Given the description of an element on the screen output the (x, y) to click on. 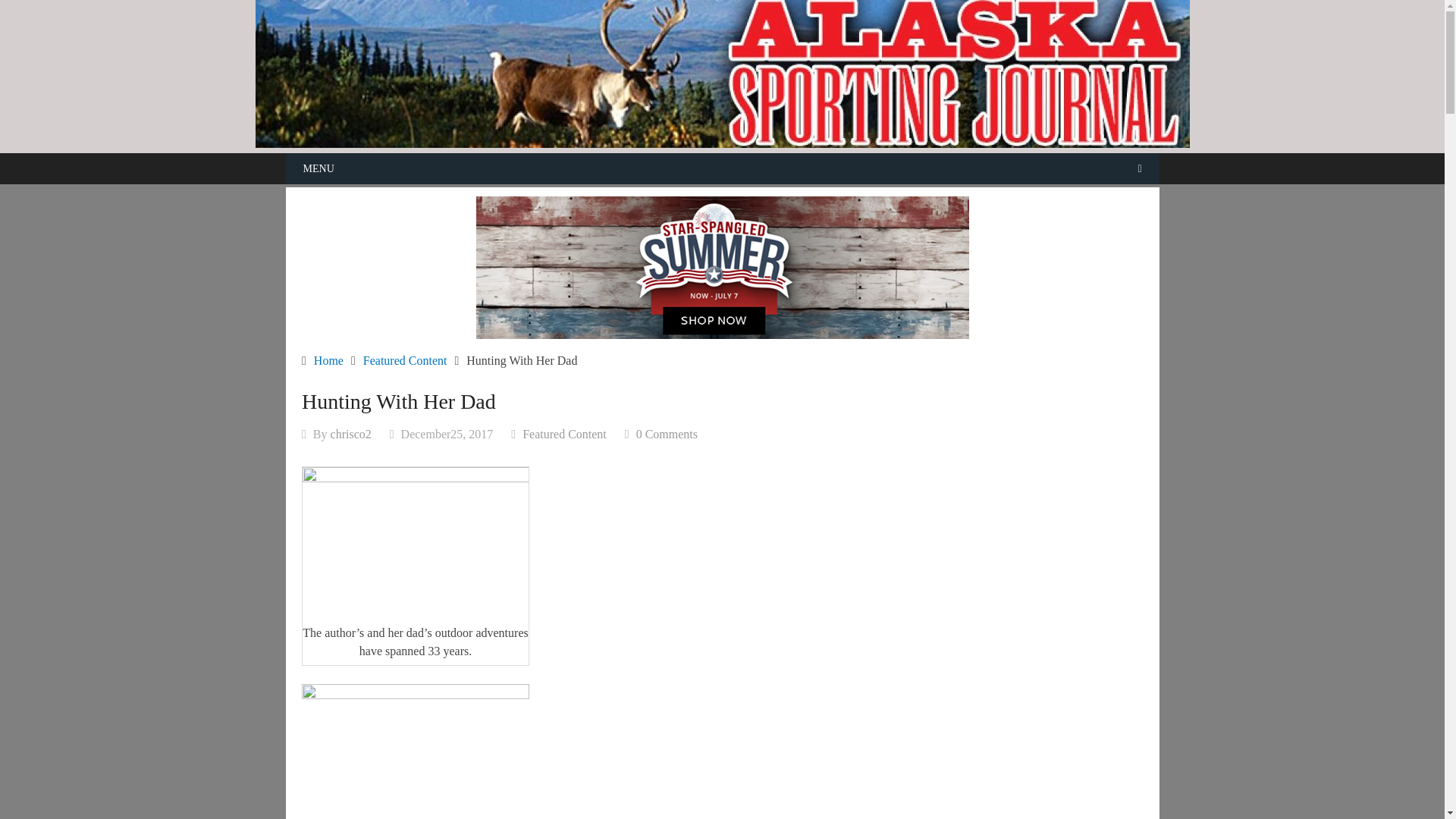
MENU (721, 168)
Posts by chrisco2 (350, 433)
0 Comments (666, 433)
chrisco2 (350, 433)
Featured Content (404, 359)
Home (328, 359)
Featured Content (564, 433)
